Given the description of an element on the screen output the (x, y) to click on. 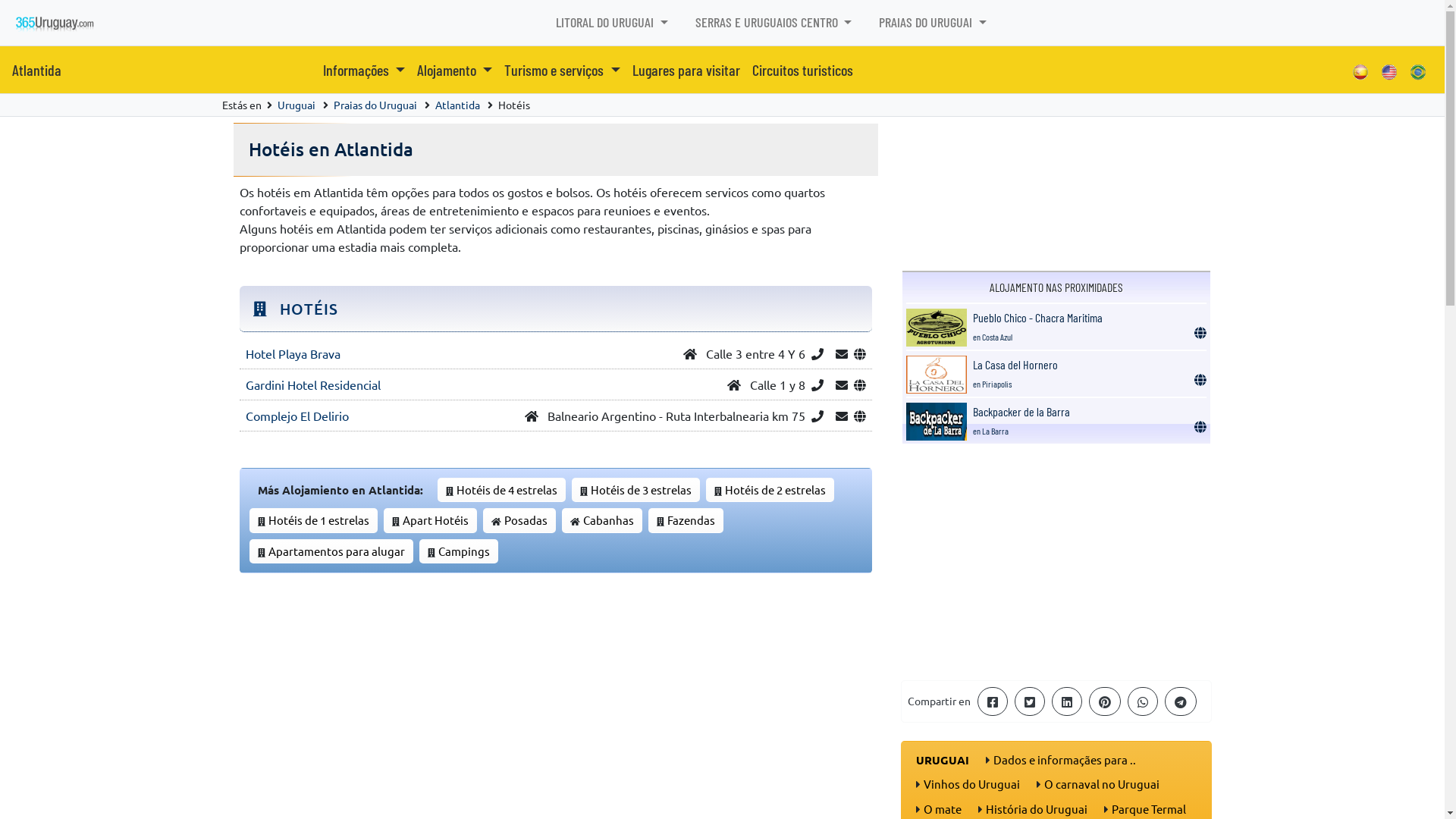
Atlantida Element type: text (457, 104)
LITORAL DO URUGUAI Element type: text (611, 22)
Uruguai Element type: text (296, 104)
Posadas Element type: text (524, 519)
PRAIAS DO URUGUAI Element type: text (932, 22)
Praias do Uruguai Element type: text (375, 104)
O mate Element type: text (942, 808)
Apartamentos para alugar Element type: text (336, 550)
SERRAS E URUGUAIOS CENTRO Element type: text (773, 22)
La Casa del Hornero
en Piriapolis Element type: text (1014, 373)
Backpacker de la Barra
en La Barra Element type: text (1020, 420)
Hotel Playa Brava Element type: text (292, 352)
Alojamento Element type: text (454, 69)
Advertisement Element type: hover (1055, 561)
Campings Element type: text (463, 550)
Lugares para visitar Element type: text (686, 69)
Atlantida Element type: text (36, 69)
Cabanhas Element type: text (607, 519)
Circuitos turisticos Element type: text (802, 69)
O carnaval no Uruguai Element type: text (1100, 783)
Parque Termal Element type: text (1148, 808)
Complejo El Delirio Element type: text (296, 415)
Pueblo Chico - Chacra Maritima
en Costa Azul Element type: text (1036, 326)
Fazendas Element type: text (691, 519)
Gardini Hotel Residencial Element type: text (312, 384)
URUGUAI Element type: text (942, 759)
Vinhos do Uruguai Element type: text (971, 783)
